Given the description of an element on the screen output the (x, y) to click on. 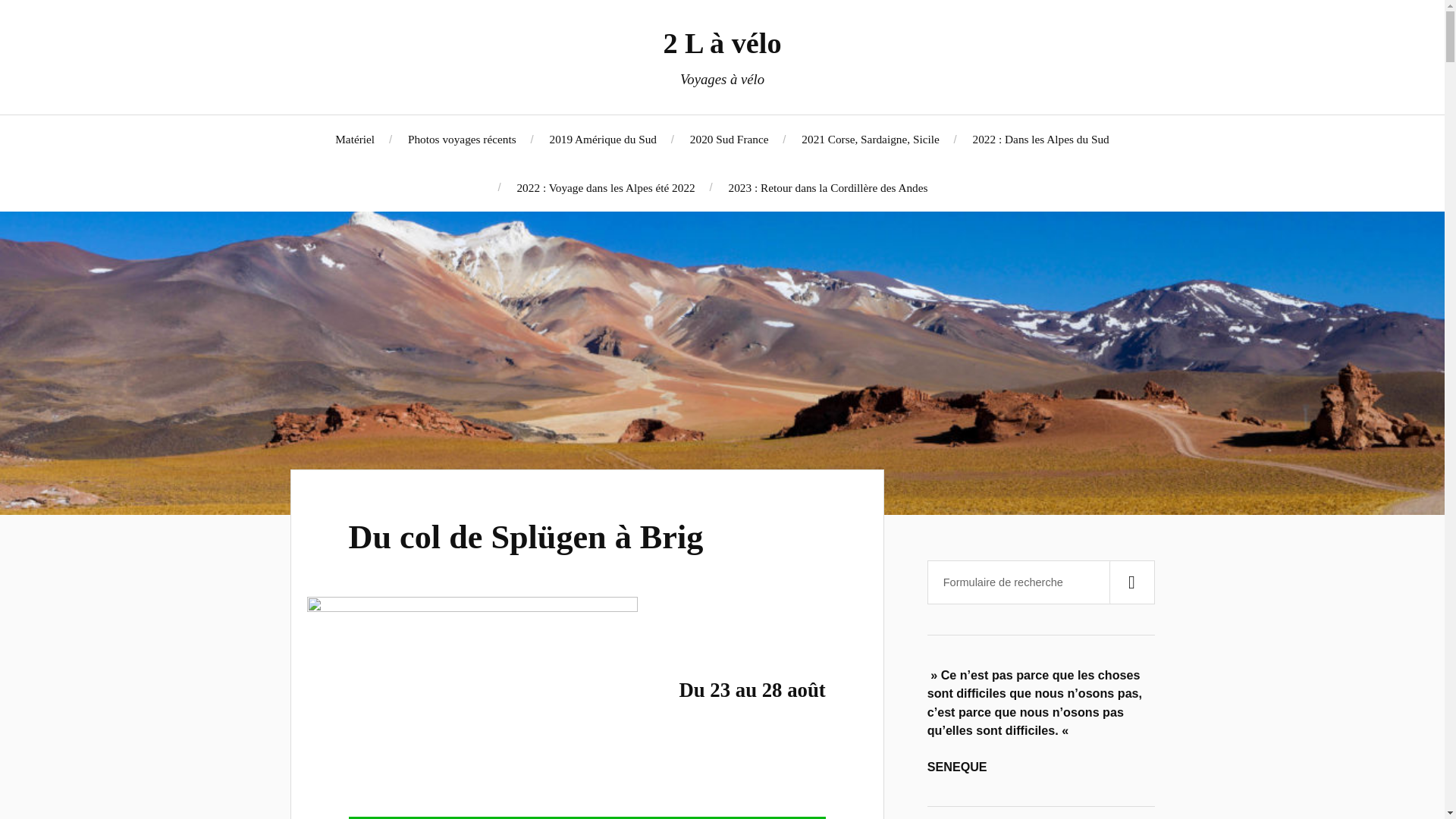
2022 : Dans les Alpes du Sud Element type: text (1040, 139)
2021 Corse, Sardaigne, Sicile Element type: text (869, 139)
2020 Sud France Element type: text (729, 139)
